Given the description of an element on the screen output the (x, y) to click on. 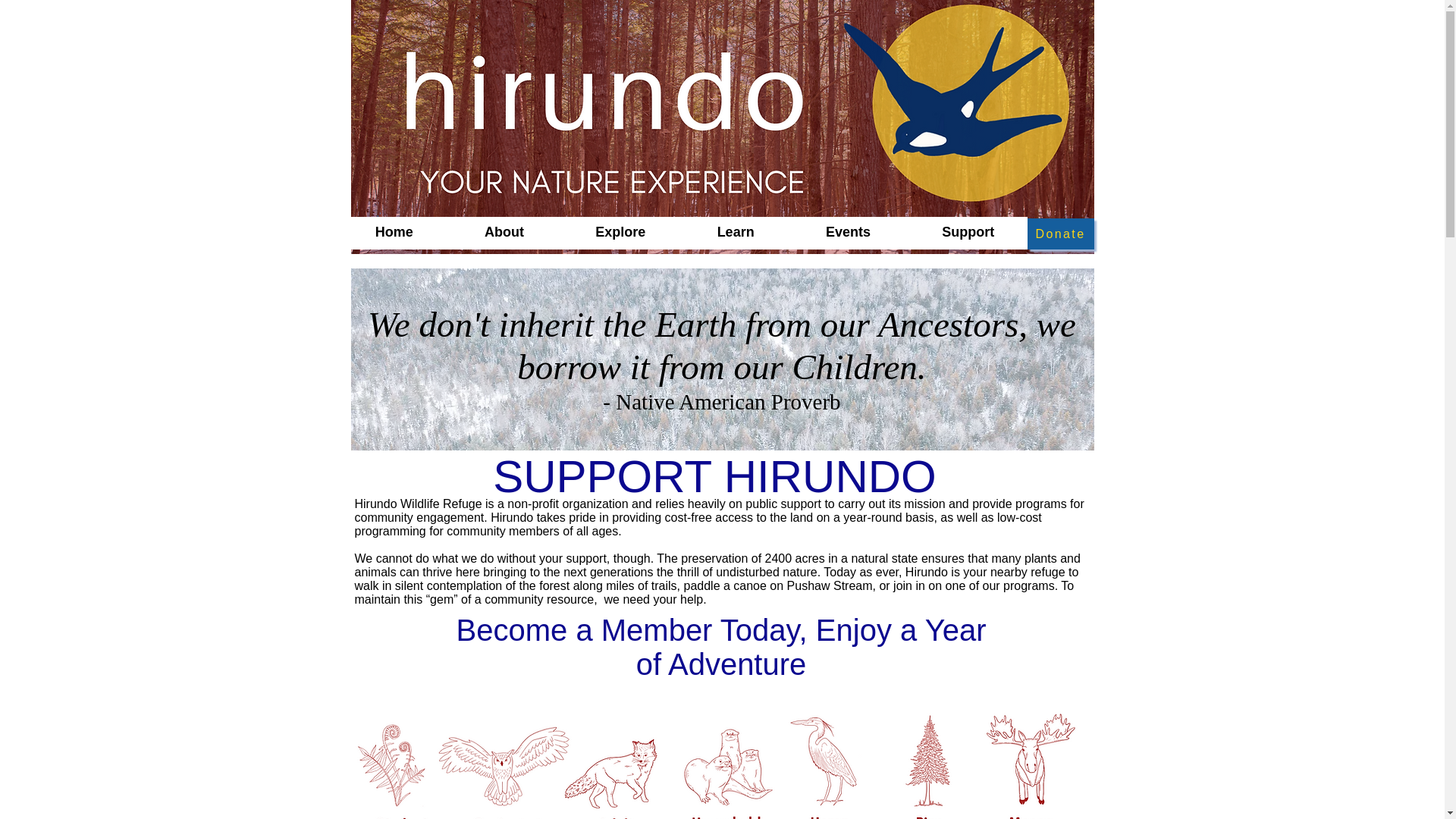
Donate (1059, 233)
Home (393, 233)
